Given the description of an element on the screen output the (x, y) to click on. 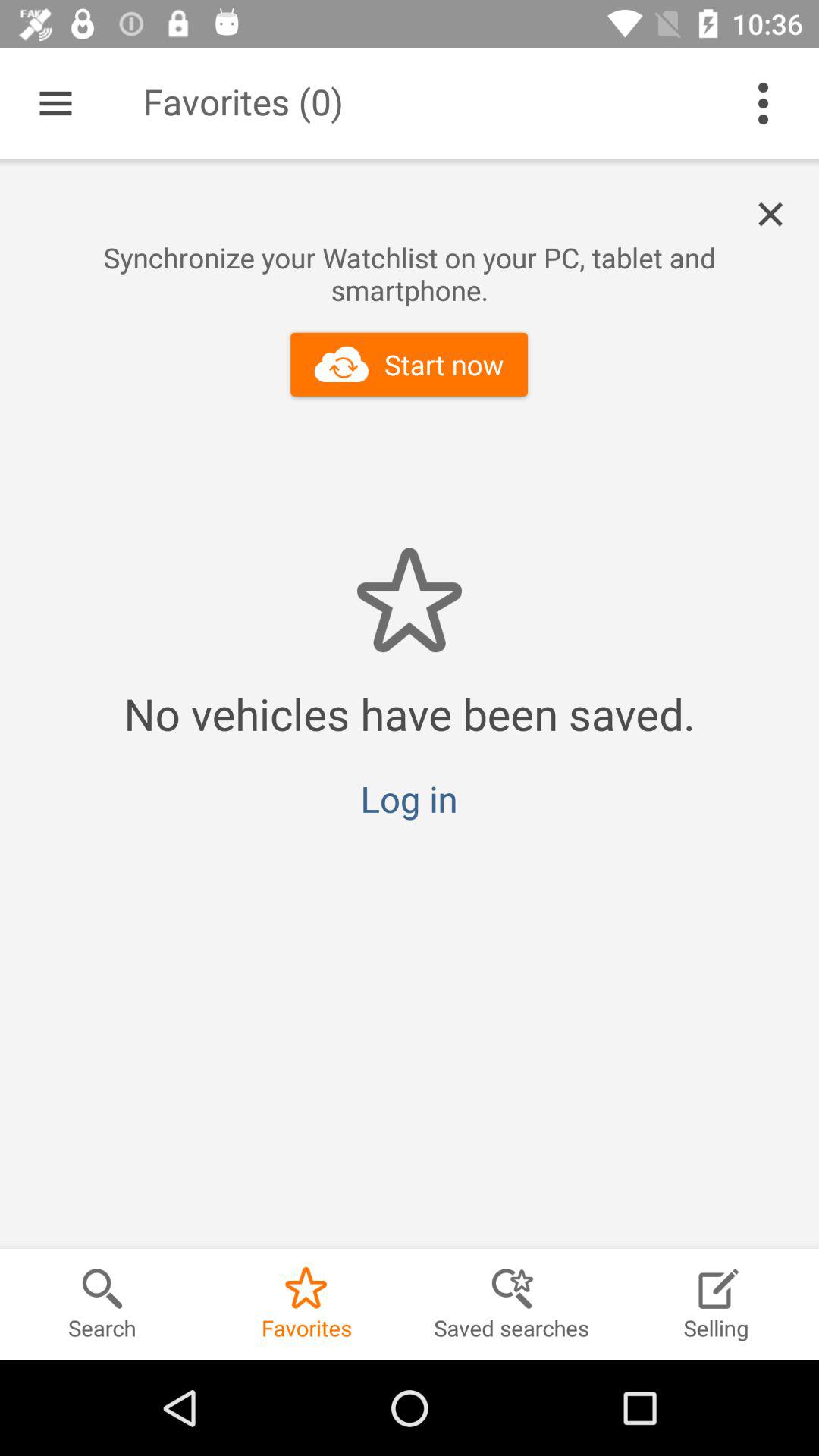
press start now item (408, 364)
